Given the description of an element on the screen output the (x, y) to click on. 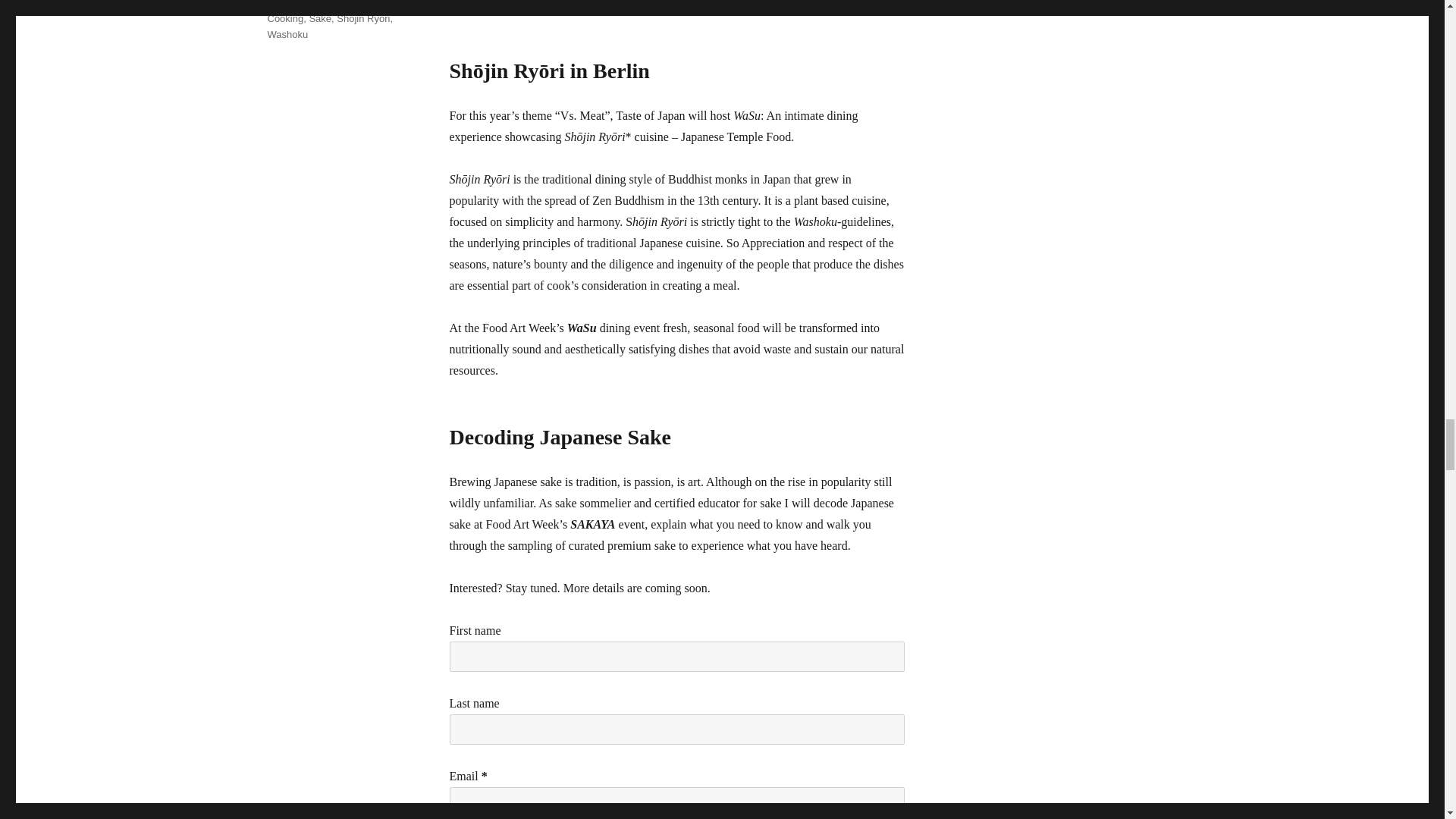
Last name (676, 729)
First name (676, 656)
Email (676, 802)
